Given the description of an element on the screen output the (x, y) to click on. 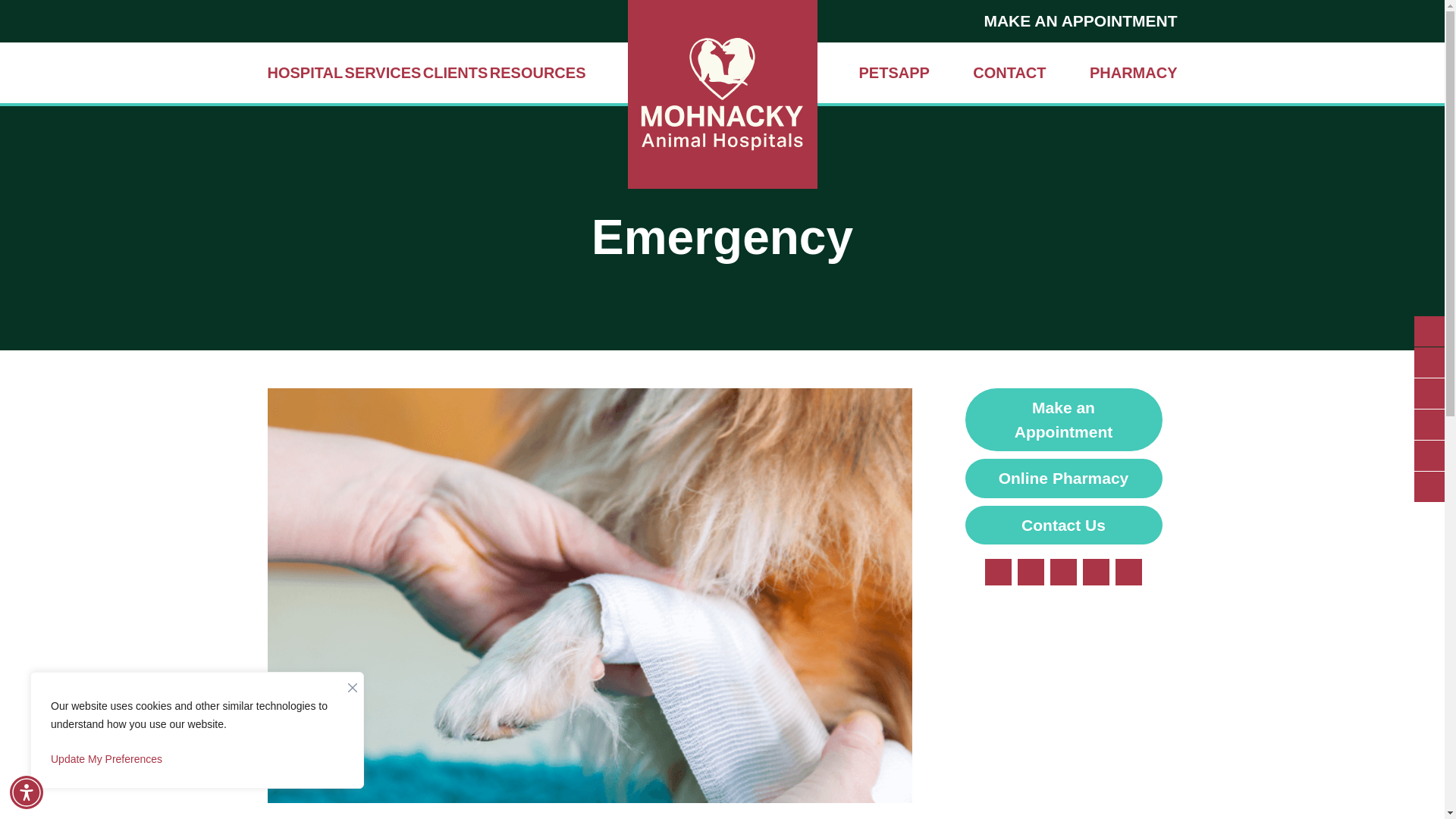
Accessibility Menu (26, 792)
Update My Preferences (196, 759)
